Given the description of an element on the screen output the (x, y) to click on. 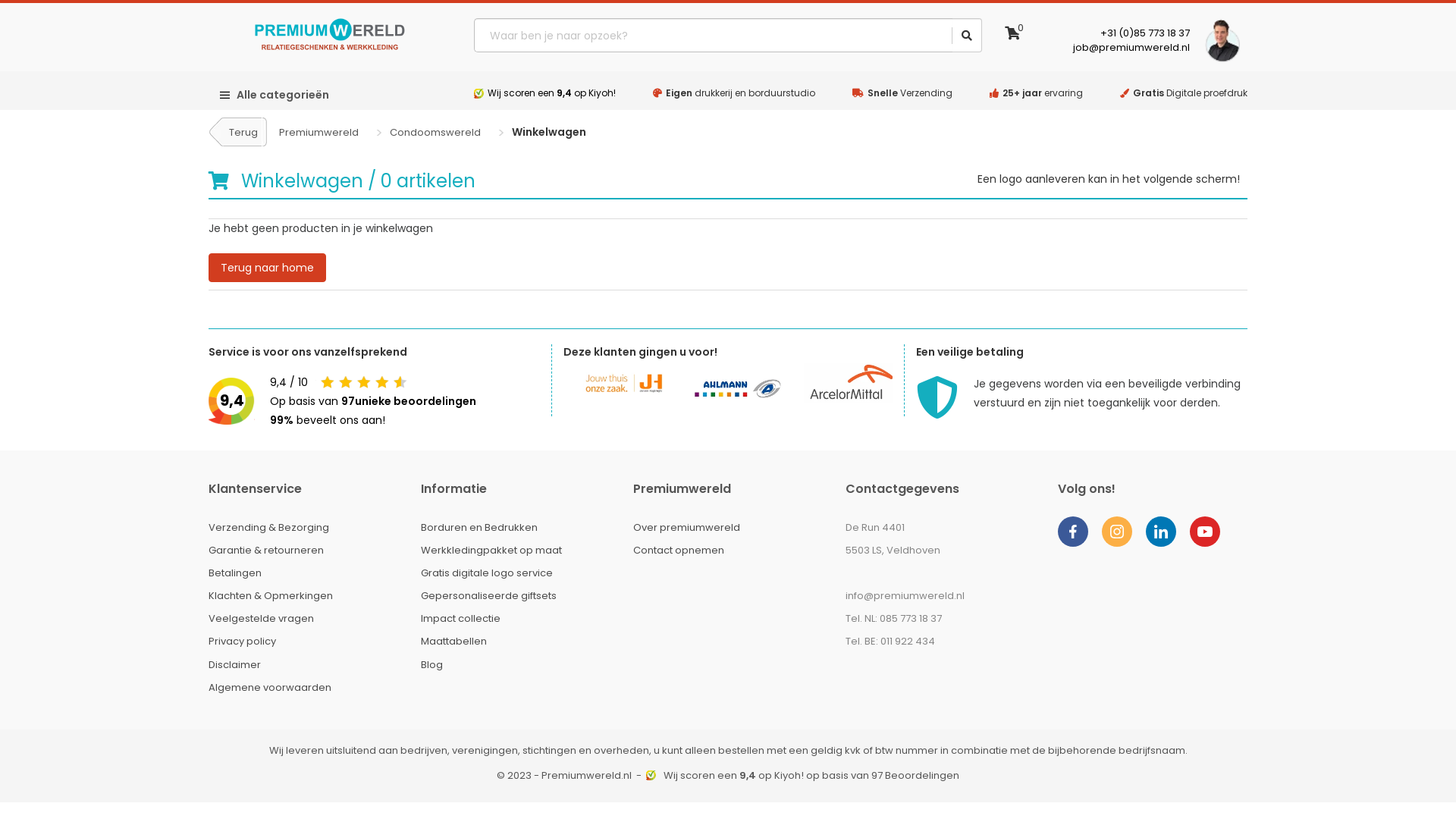
Group 26 Element type: text (1072, 539)
Premiumwereld Element type: text (318, 131)
Privacy policy Element type: text (242, 640)
Algemene voorwaarden Element type: text (269, 687)
Impact collectie Element type: text (460, 618)
Group 25 Element type: text (1160, 539)
Terug Element type: text (238, 131)
Terug naar home Element type: text (267, 267)
divider Element type: hover (952, 35)
Wij scoren een 9,4 op Kiyoh! Element type: text (551, 92)
Group 27 Element type: text (1204, 539)
Gepersonaliseerde giftsets Element type: text (488, 595)
Verzending & Bezorging Element type: text (268, 527)
Veelgestelde vragen Element type: text (260, 618)
Over premiumwereld Element type: text (686, 527)
Werkkledingpakket op maat Element type: text (490, 549)
Maattabellen Element type: text (453, 640)
Borduren en Bedrukken Element type: text (478, 527)
Betalingen Element type: text (234, 572)
Contact opnemen Element type: text (678, 549)
Group 19 Element type: text (1116, 539)
Gratis digitale logo service Element type: text (486, 572)
Condoomswereld Element type: text (434, 131)
Blog Element type: text (431, 663)
Disclaimer Element type: text (234, 663)
+31 (0)85 773 18 37 Element type: text (1144, 32)
Garantie & retourneren Element type: text (265, 549)
Terug naar home Element type: text (267, 261)
Klachten & Opmerkingen Element type: text (270, 595)
job@premiumwereld.nl Element type: text (1131, 47)
